Given the description of an element on the screen output the (x, y) to click on. 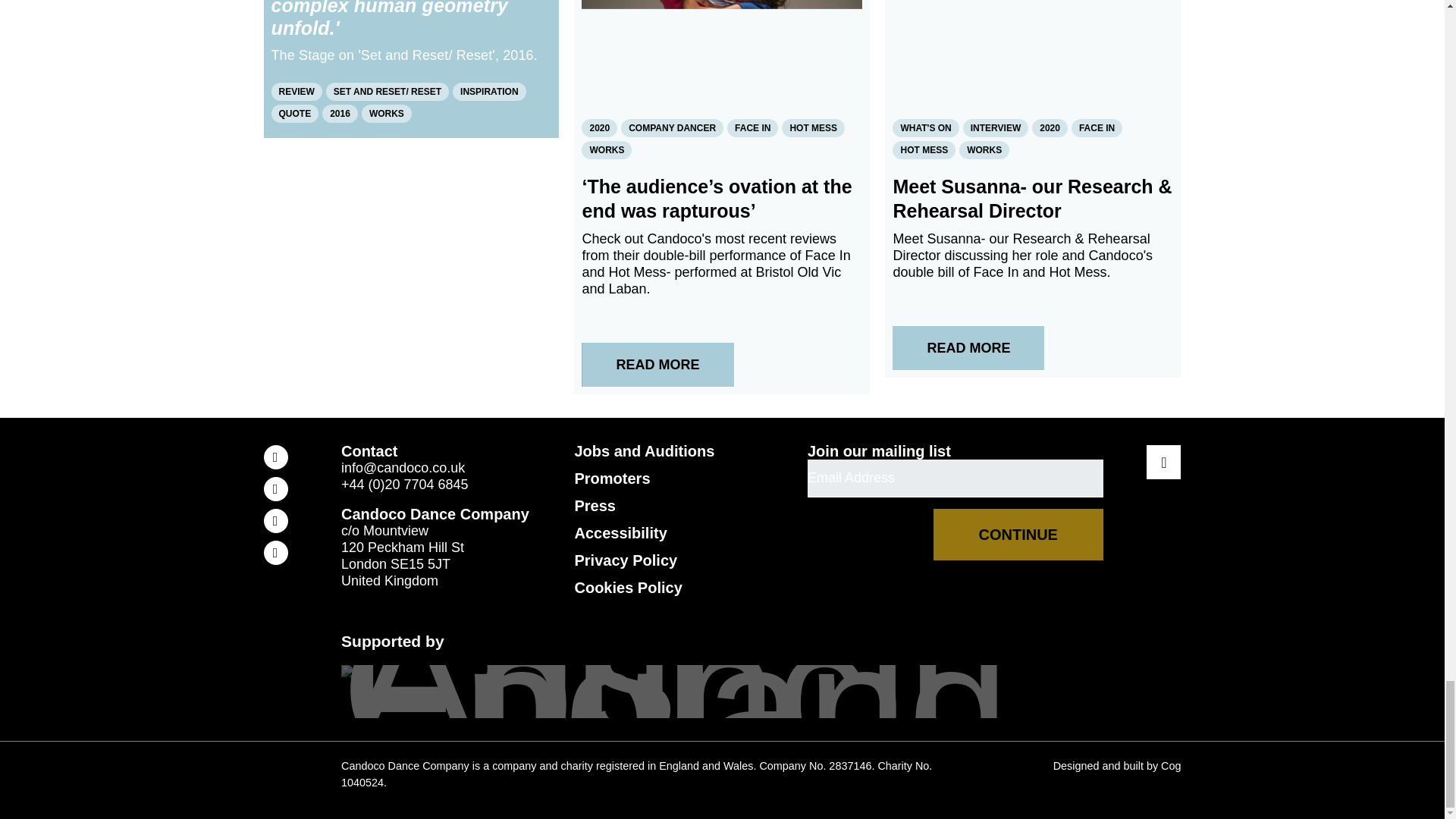
2020 (598, 127)
REVIEW (295, 91)
QUOTE (294, 113)
WORKS (386, 113)
INSPIRATION (488, 91)
COMPANY DANCER (672, 127)
2016 (339, 113)
